Given the description of an element on the screen output the (x, y) to click on. 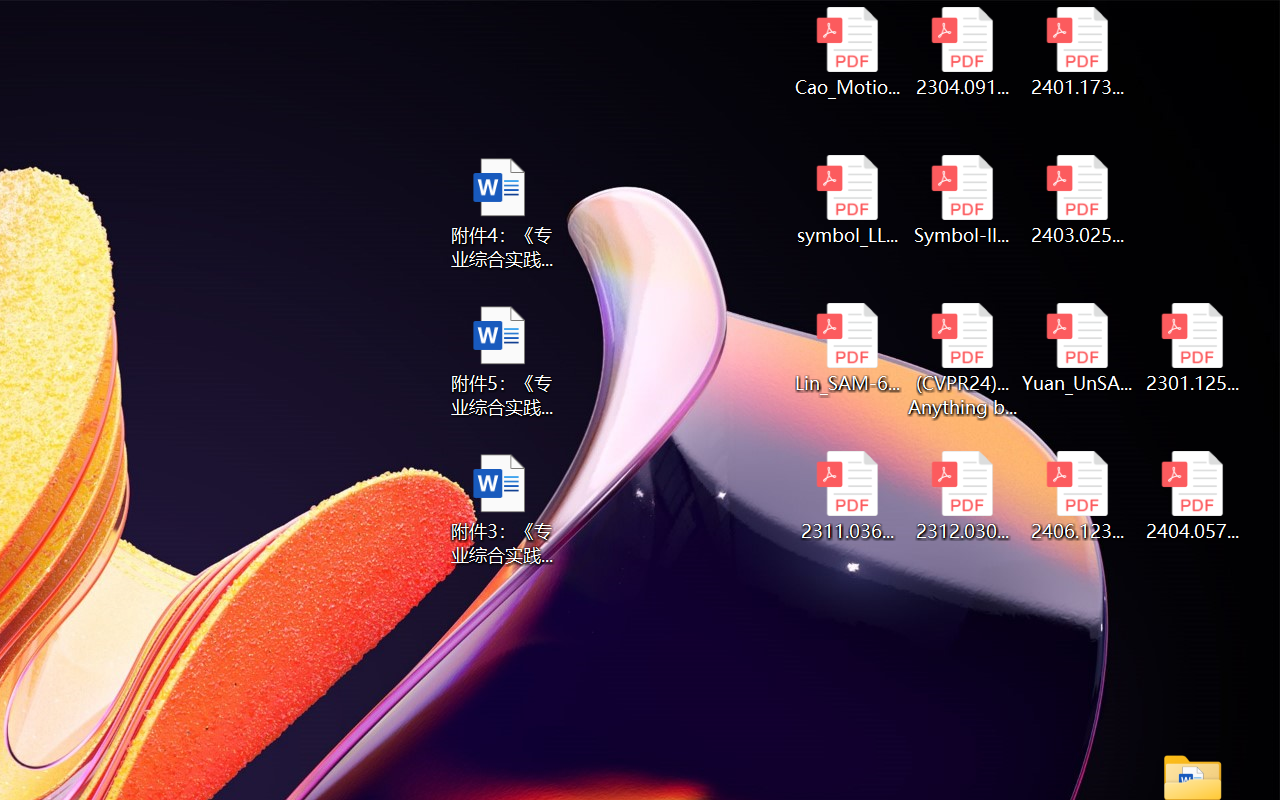
symbol_LLM.pdf (846, 200)
Symbol-llm-v2.pdf (962, 200)
2403.02502v1.pdf (1077, 200)
(CVPR24)Matching Anything by Segmenting Anything.pdf (962, 360)
2406.12373v2.pdf (1077, 496)
2301.12597v3.pdf (1192, 348)
2401.17399v1.pdf (1077, 52)
2304.09121v3.pdf (962, 52)
2311.03658v2.pdf (846, 496)
